Given the description of an element on the screen output the (x, y) to click on. 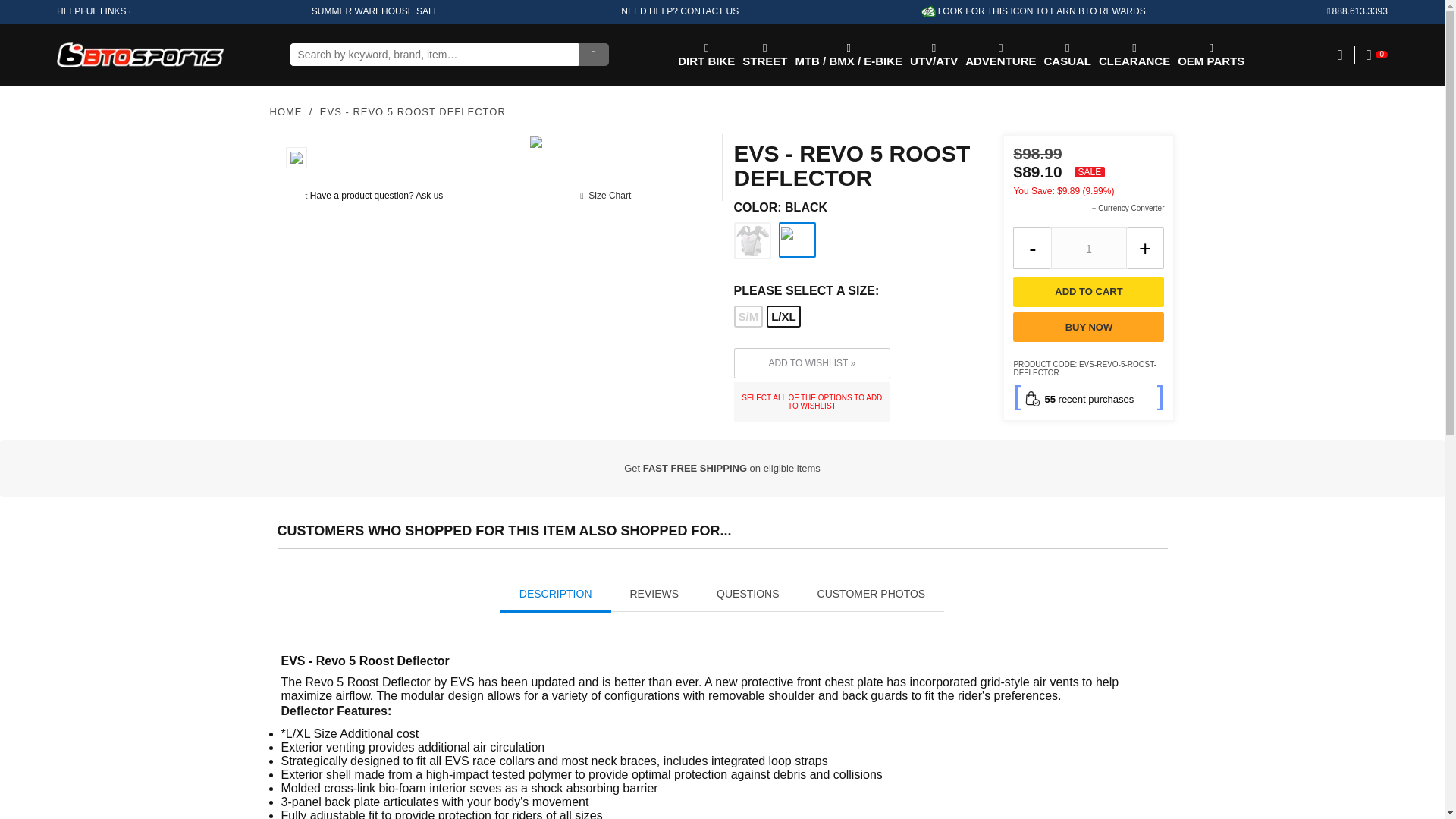
size (856, 291)
BTO Sports (140, 54)
1 (1088, 248)
color (856, 207)
